Given the description of an element on the screen output the (x, y) to click on. 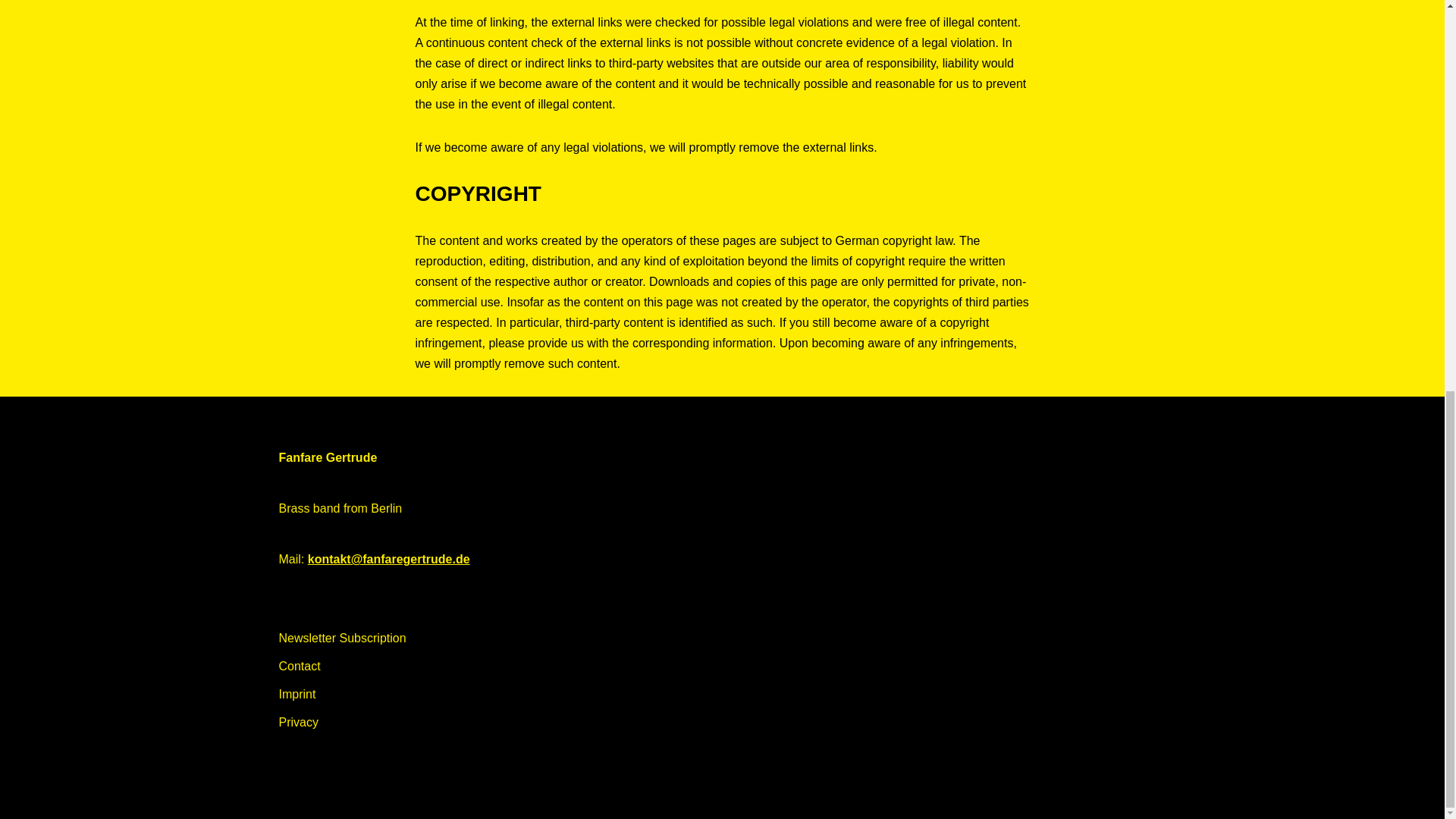
Imprint (297, 694)
Newsletter Subscription (342, 637)
Contact (299, 666)
Neve (293, 799)
Privacy (298, 721)
WordPress (414, 799)
